Given the description of an element on the screen output the (x, y) to click on. 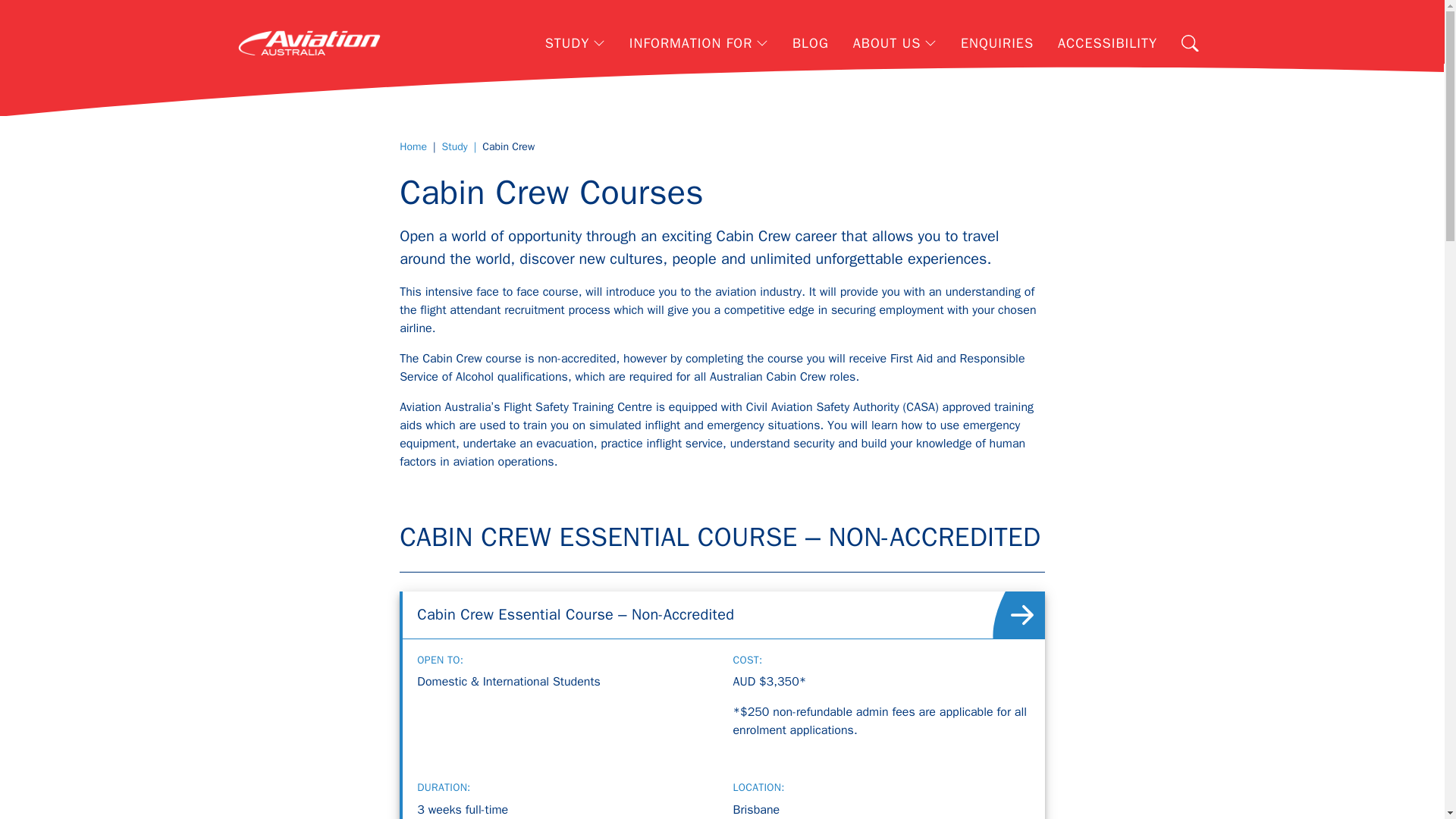
ENQUIRIES (997, 42)
Blog (810, 42)
INFORMATION FOR (698, 42)
Study (454, 146)
BLOG (810, 42)
ACCESSIBILITY (1107, 42)
Information For (698, 42)
STUDY (574, 42)
ABOUT US (895, 42)
Home (412, 146)
